Given the description of an element on the screen output the (x, y) to click on. 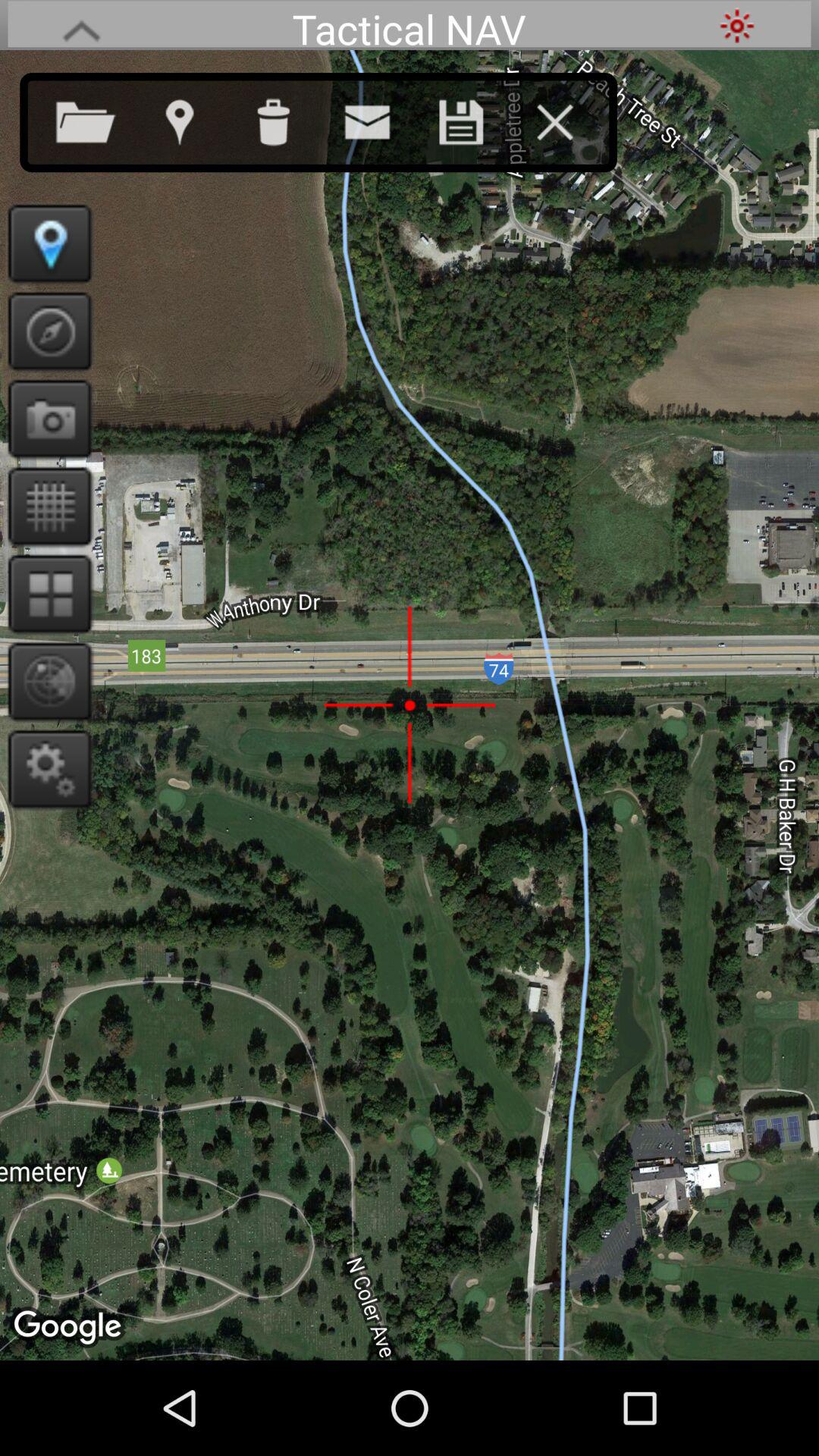
email (382, 119)
